Given the description of an element on the screen output the (x, y) to click on. 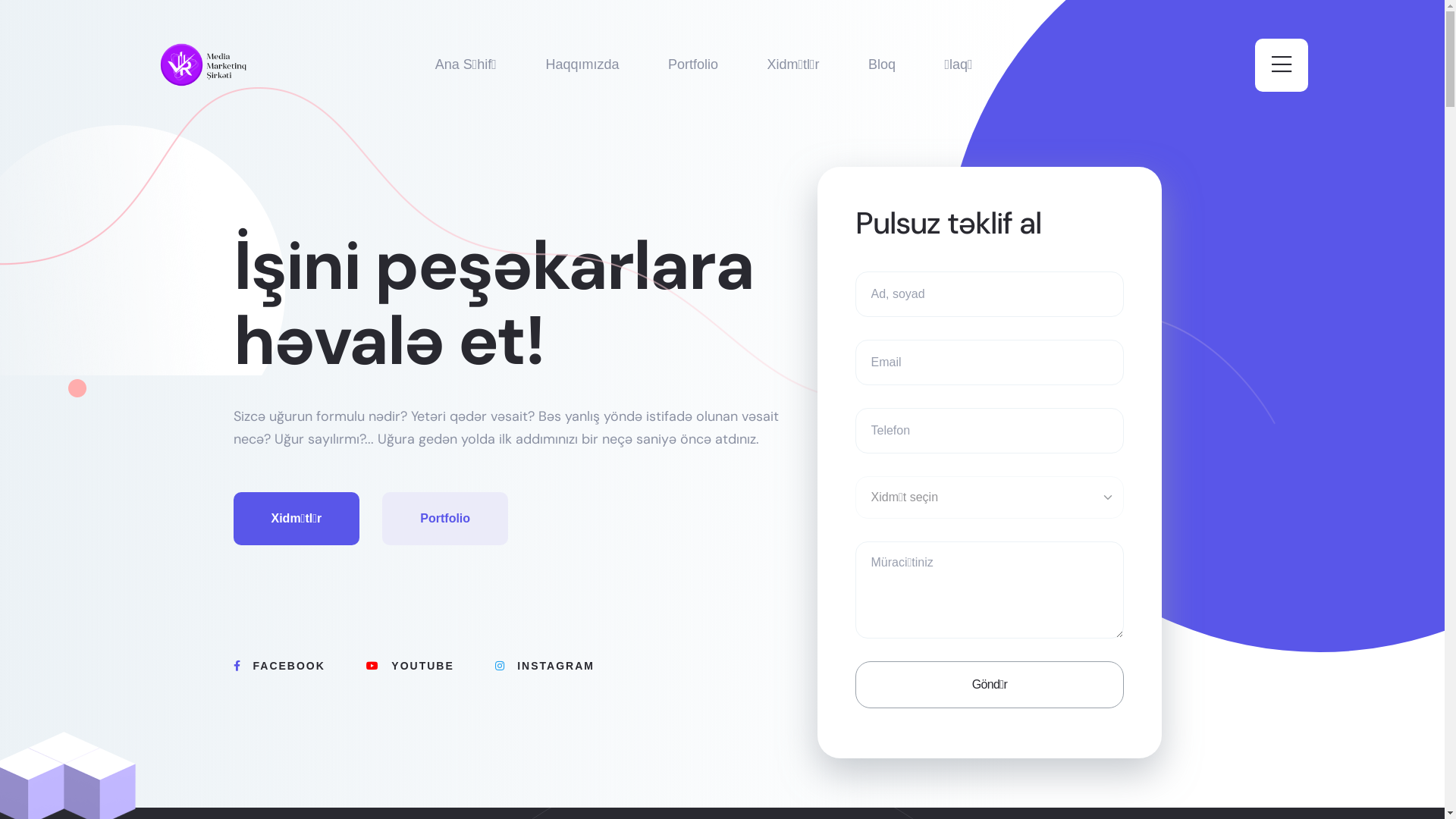
Portfolio Element type: text (445, 517)
FACEBOOK Element type: text (298, 666)
INSTAGRAM Element type: text (563, 666)
Portfolio Element type: text (693, 64)
YOUTUBE Element type: text (428, 666)
Bloq Element type: text (881, 64)
